Given the description of an element on the screen output the (x, y) to click on. 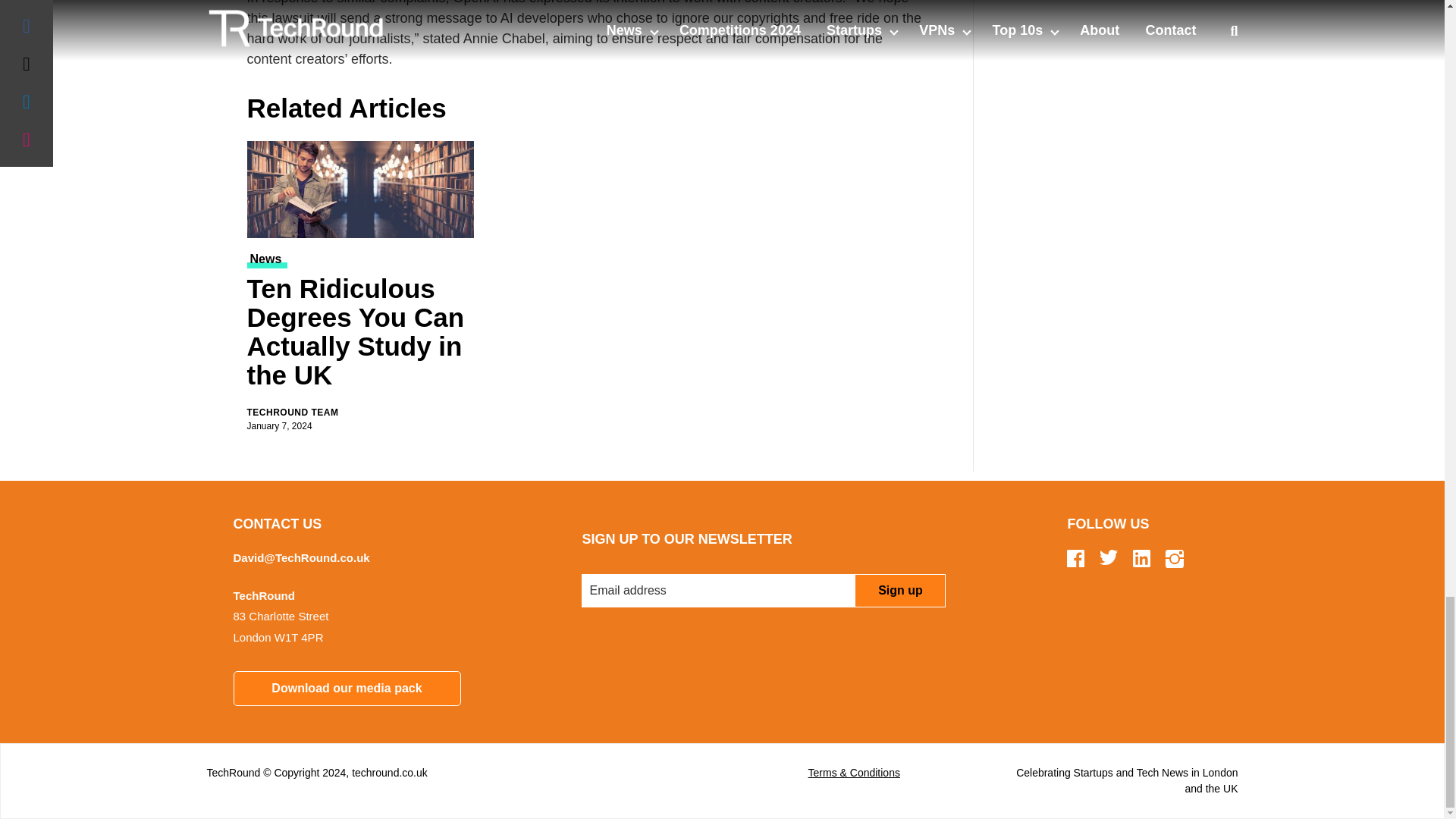
Sign up (899, 590)
Ten Ridiculous Degrees You Can Actually Study in the UK (360, 189)
Ten Ridiculous Degrees You Can Actually Study in the UK (360, 334)
